Given the description of an element on the screen output the (x, y) to click on. 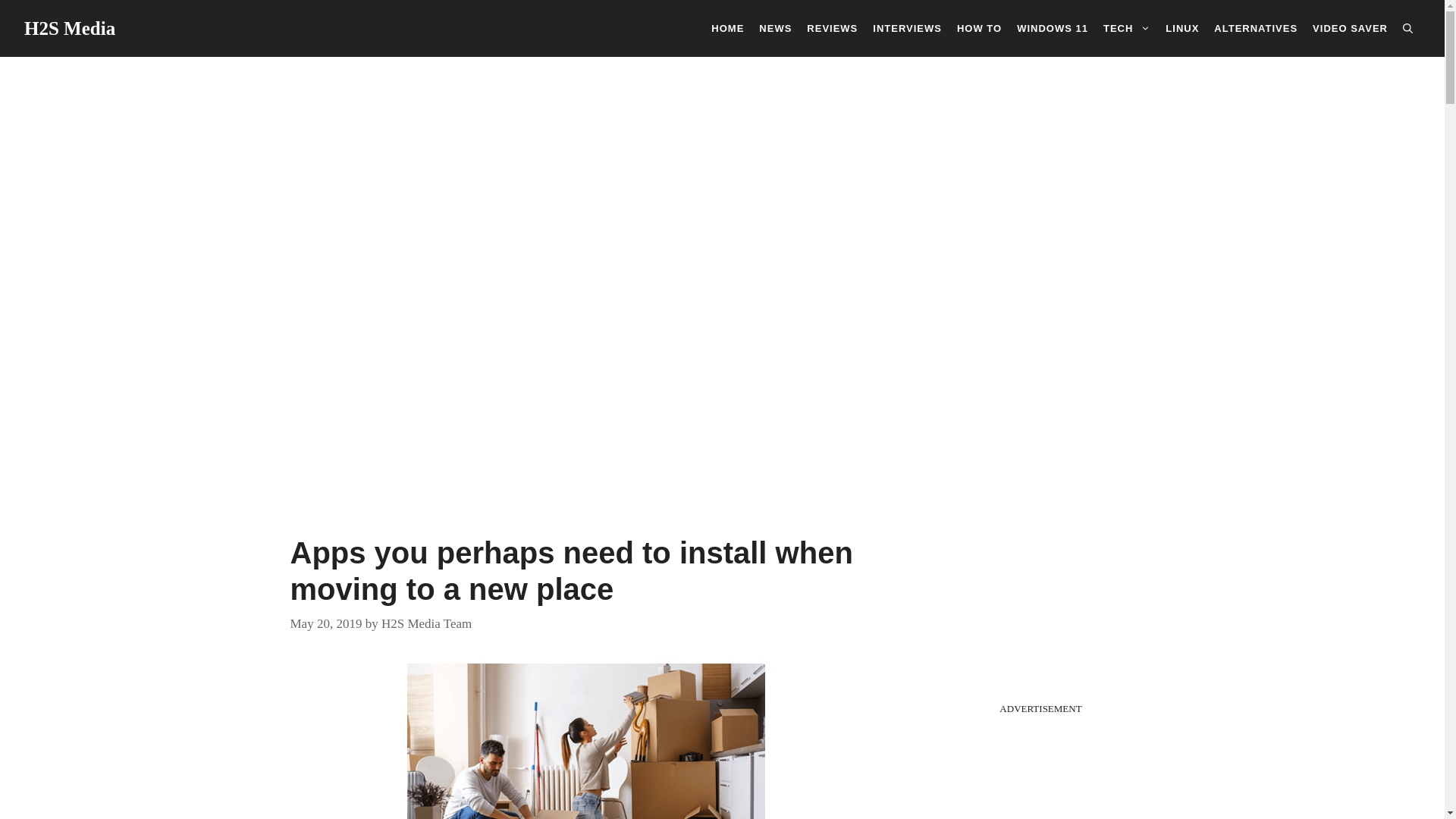
TECH (1126, 27)
HOW TO (979, 27)
INTERVIEWS (906, 27)
VIDEO SAVER (1349, 27)
HOME (727, 27)
H2S Media (69, 28)
View all posts by H2S Media Team (426, 622)
REVIEWS (831, 27)
H2S Media Team (426, 622)
NEWS (775, 27)
ALTERNATIVES (1255, 27)
LINUX (1182, 27)
WINDOWS 11 (1052, 27)
